Given the description of an element on the screen output the (x, y) to click on. 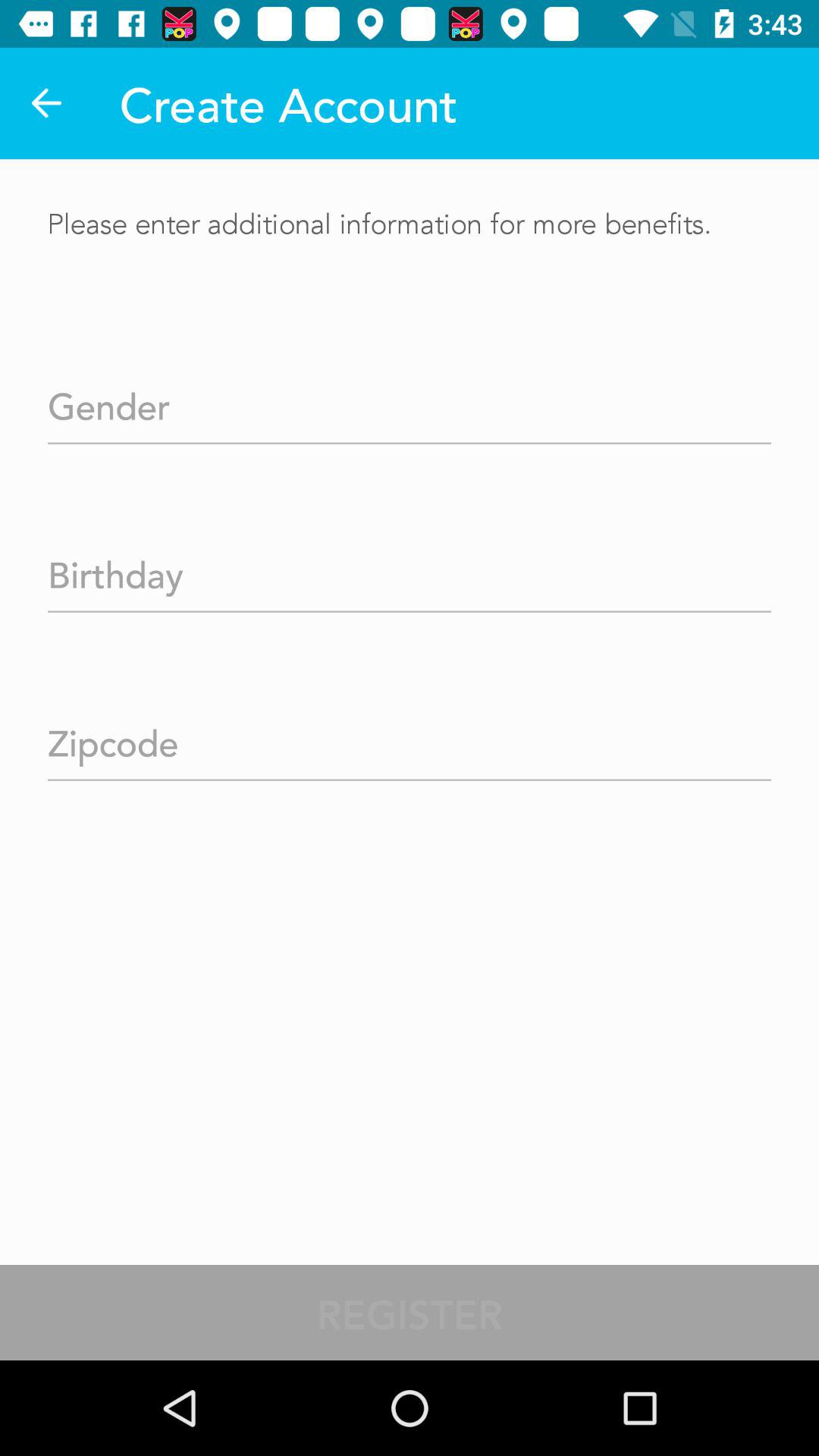
click to enter zipcode (409, 738)
